Given the description of an element on the screen output the (x, y) to click on. 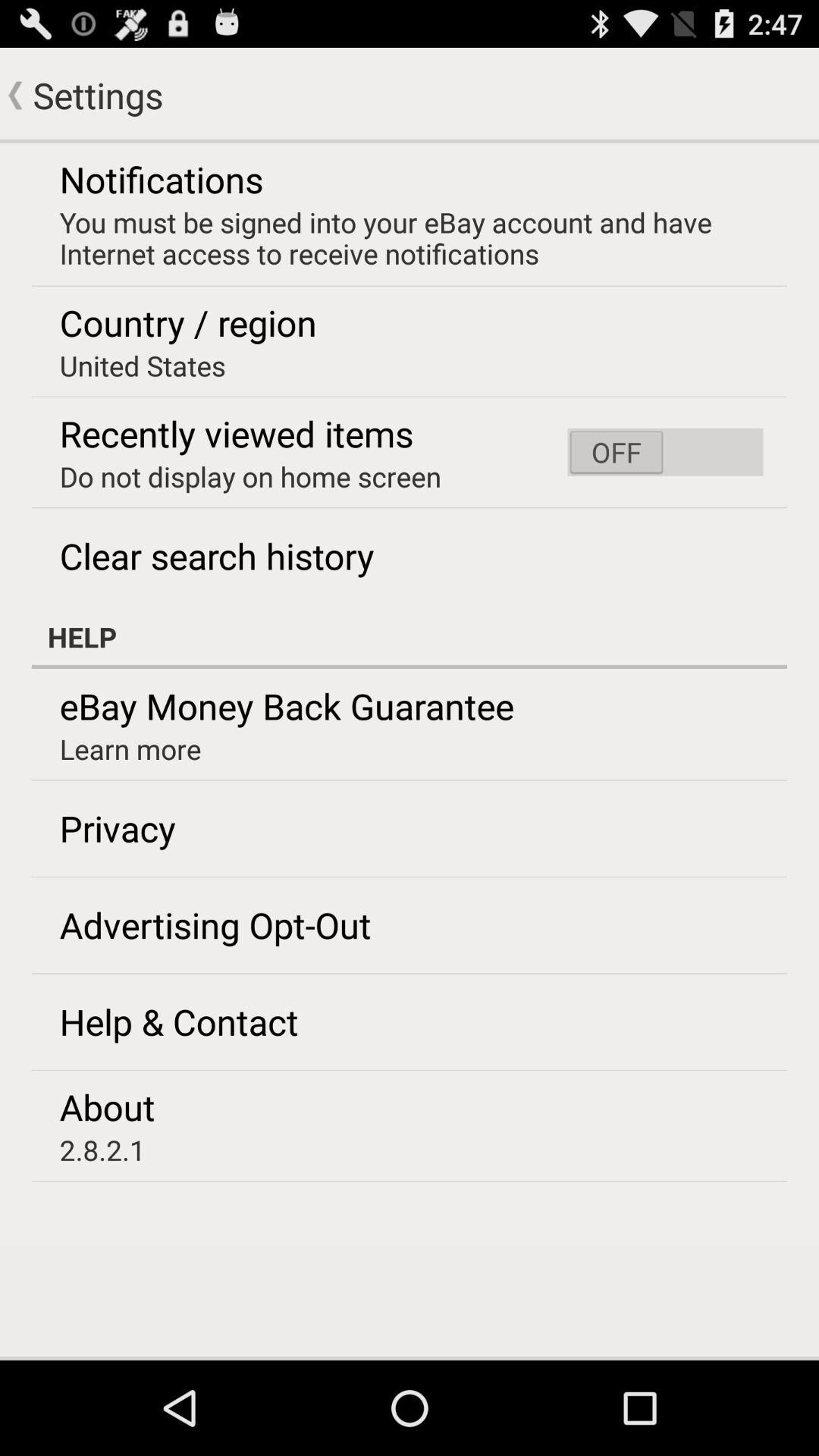
launch the icon below the advertising opt-out item (178, 1021)
